Given the description of an element on the screen output the (x, y) to click on. 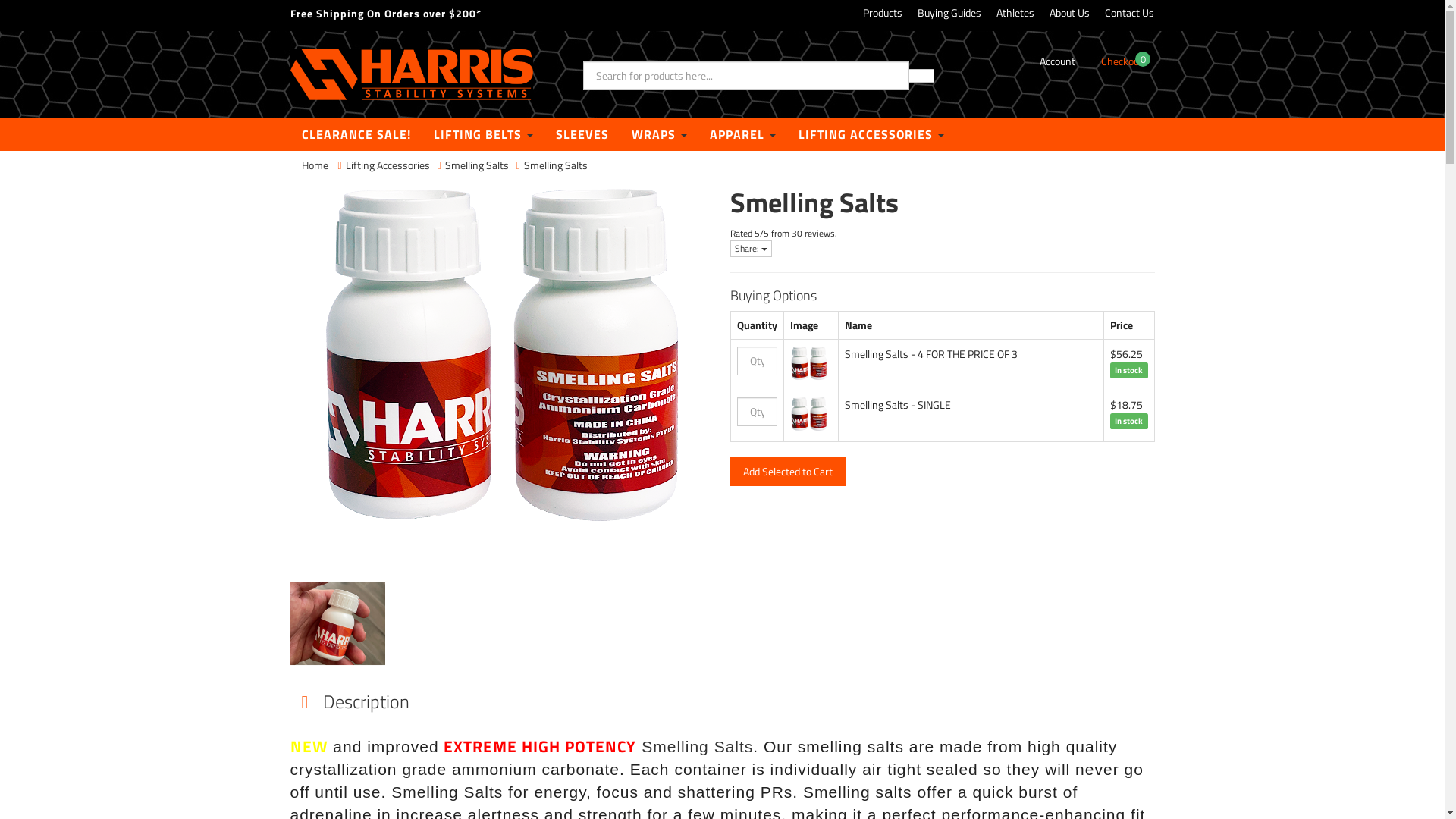
Athletes Element type: text (1015, 12)
APPAREL Element type: text (741, 134)
SLEEVES Element type: text (582, 134)
LIFTING BELTS Element type: text (482, 134)
Smelling Salts Element type: text (555, 164)
WRAPS Element type: text (659, 134)
Add Selected to Cart Element type: text (786, 471)
Buying Guides Element type: text (949, 12)
Large View Element type: hover (336, 628)
Lifting Accessories Element type: text (387, 164)
Smelling Salts Element type: text (697, 746)
Contact Us Element type: text (1129, 12)
Home Element type: text (314, 164)
LIFTING ACCESSORIES Element type: text (871, 134)
Share: Element type: text (750, 248)
Account Element type: text (1057, 61)
Products Element type: text (882, 12)
Smelling Salts Element type: text (476, 164)
Search Element type: text (921, 75)
About Us Element type: text (1069, 12)
0
Checkout Element type: text (1121, 61)
CLEARANCE SALE! Element type: text (355, 134)
